Given the description of an element on the screen output the (x, y) to click on. 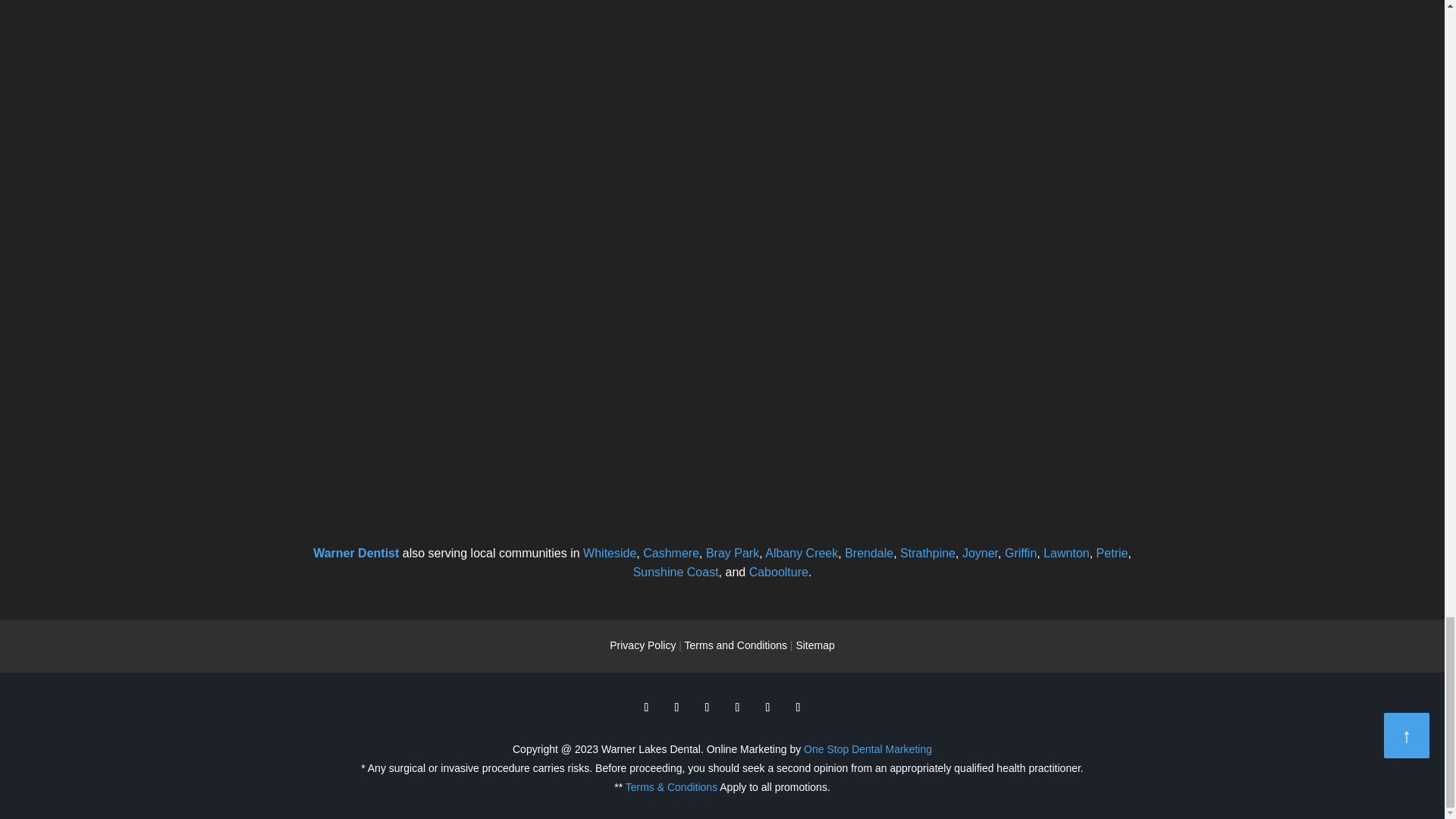
Follow on Facebook (645, 707)
Follow on Twitter (675, 707)
Follow on Youtube (737, 707)
Terms and Conditions (735, 645)
Privacy Policy (642, 645)
Follow on Instagram (797, 707)
Follow on LinkedIn (766, 707)
